Given the description of an element on the screen output the (x, y) to click on. 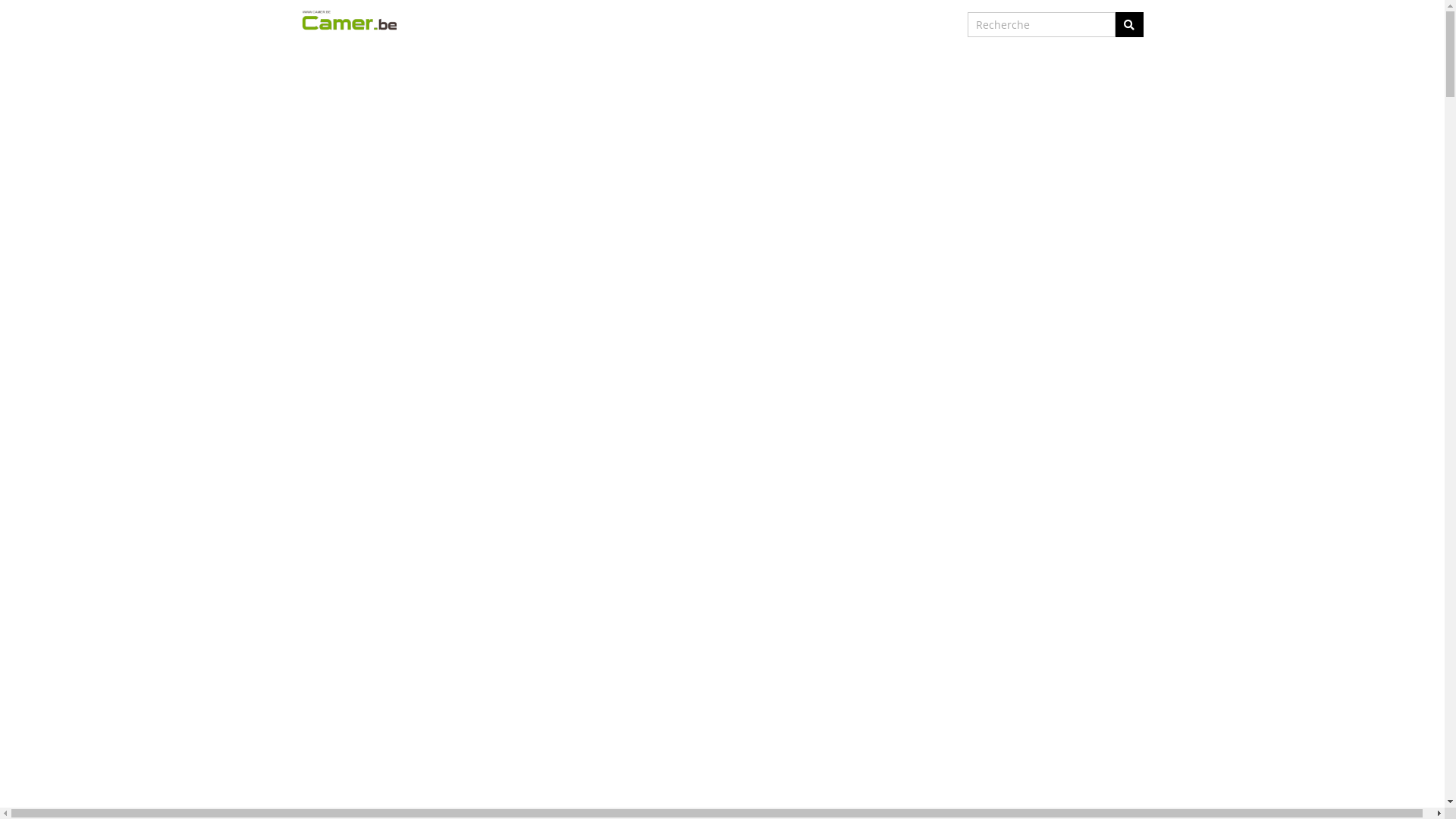
EXPRESSION LIBRE Element type: text (780, 24)
CULTURE Element type: text (695, 24)
CONTACT Element type: text (861, 24)
ACCUEIL Element type: text (563, 24)
